Given the description of an element on the screen output the (x, y) to click on. 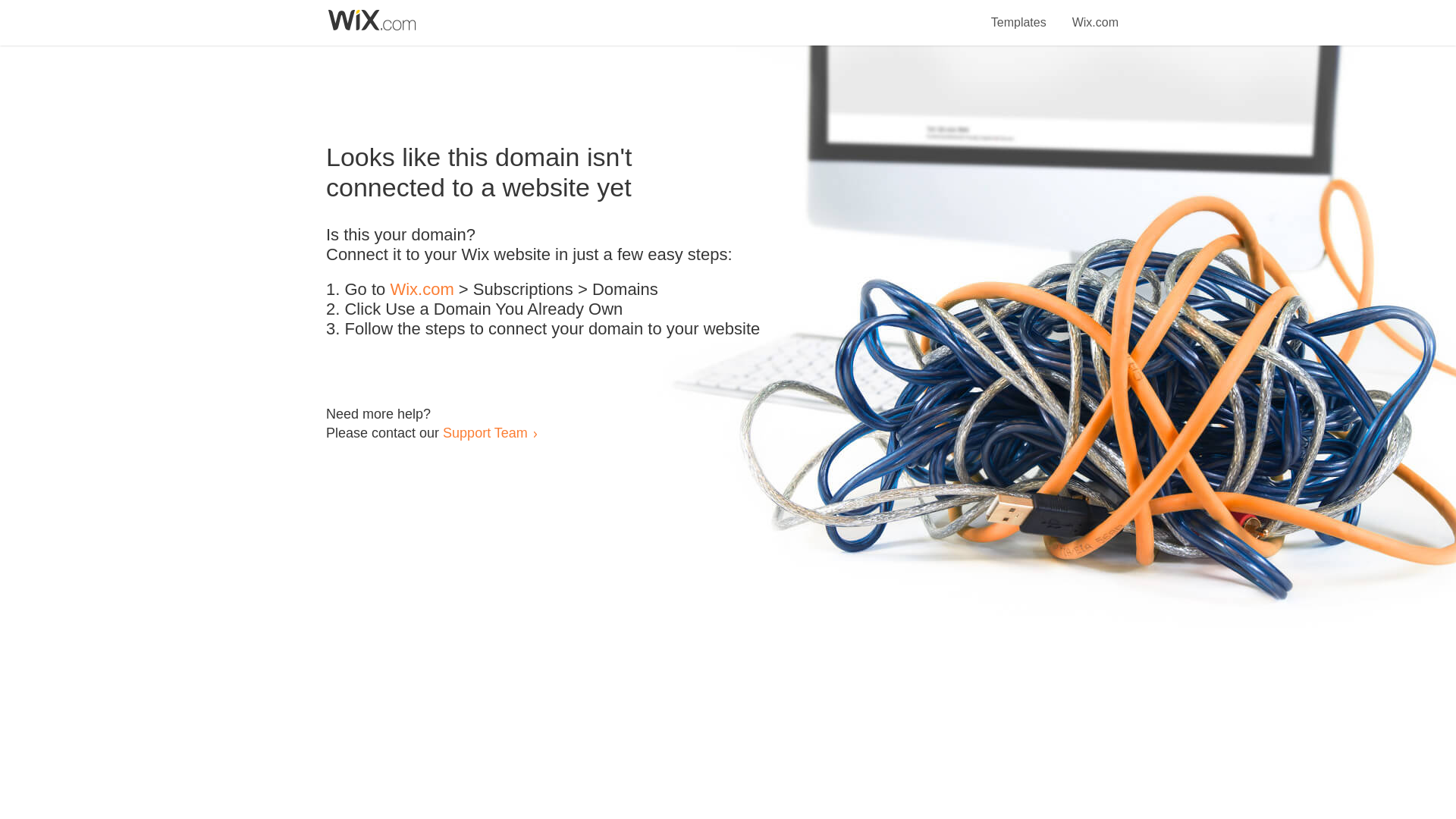
Wix.com (421, 289)
Wix.com (1095, 14)
Templates (1018, 14)
Support Team (484, 432)
